Given the description of an element on the screen output the (x, y) to click on. 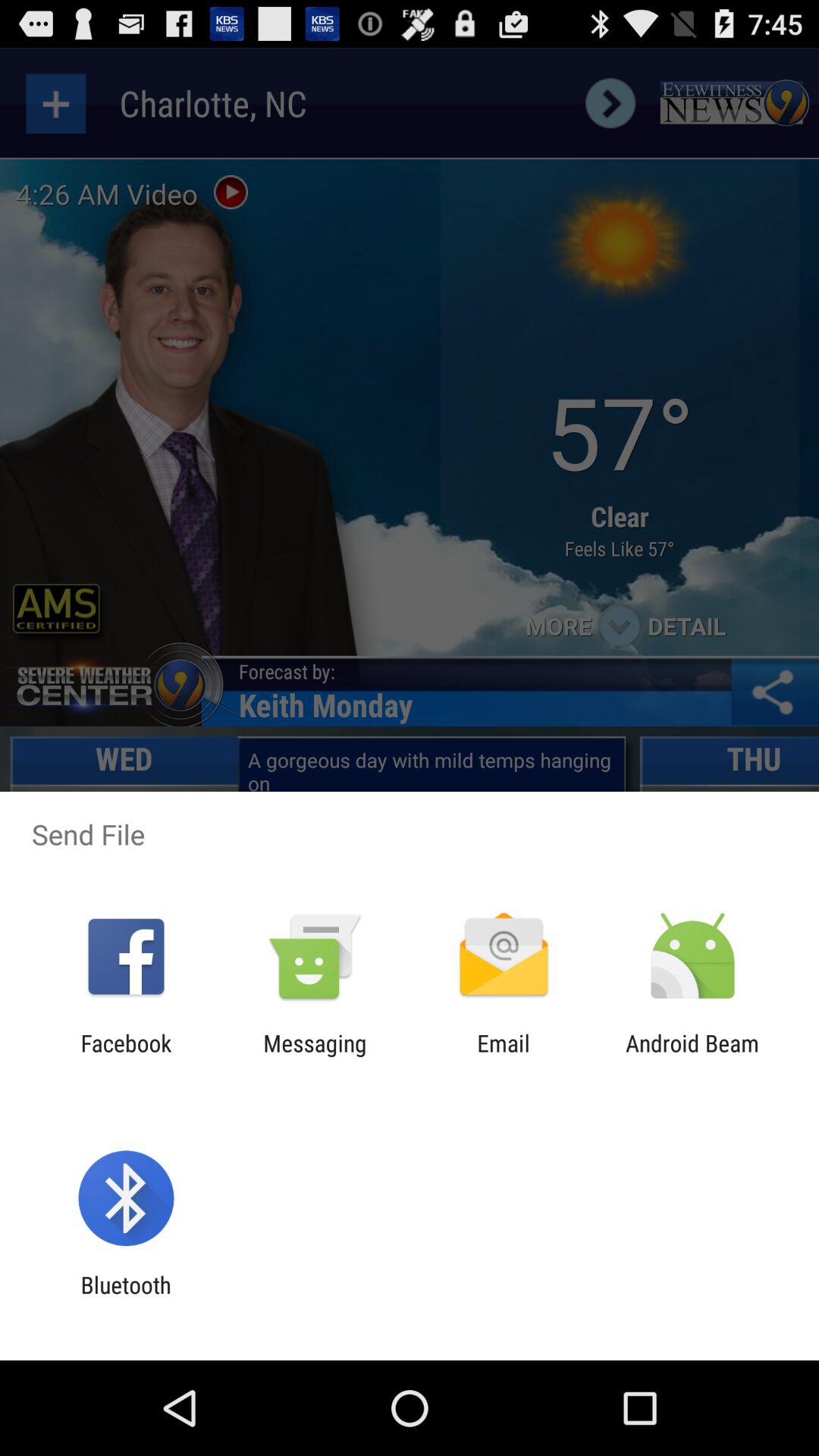
select messaging icon (314, 1056)
